Given the description of an element on the screen output the (x, y) to click on. 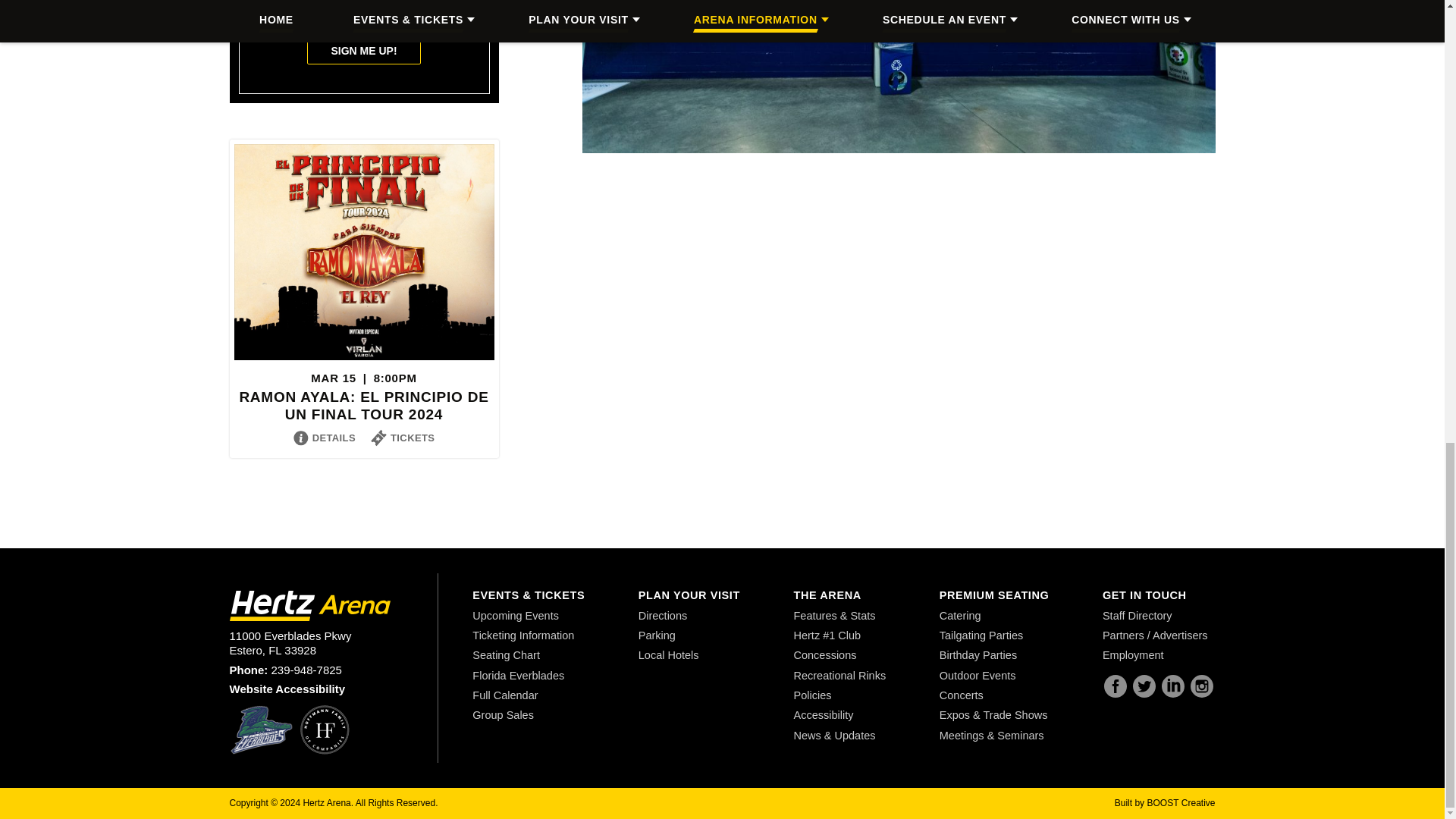
Hoffmann Family of Companies (324, 729)
Sign me up! (363, 50)
Florida Everblades (261, 729)
